Given the description of an element on the screen output the (x, y) to click on. 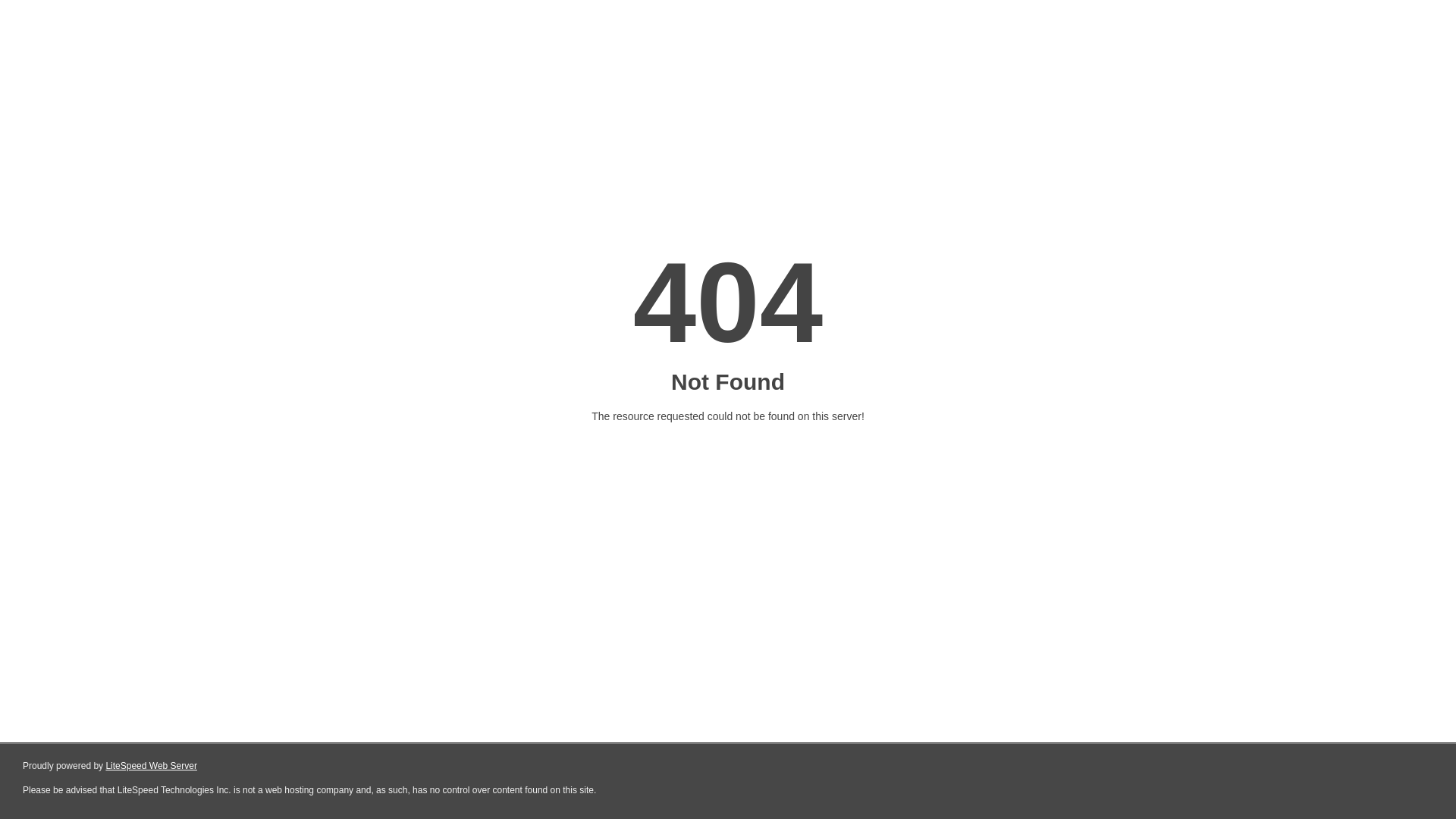
LiteSpeed Web Server Element type: text (151, 765)
